Given the description of an element on the screen output the (x, y) to click on. 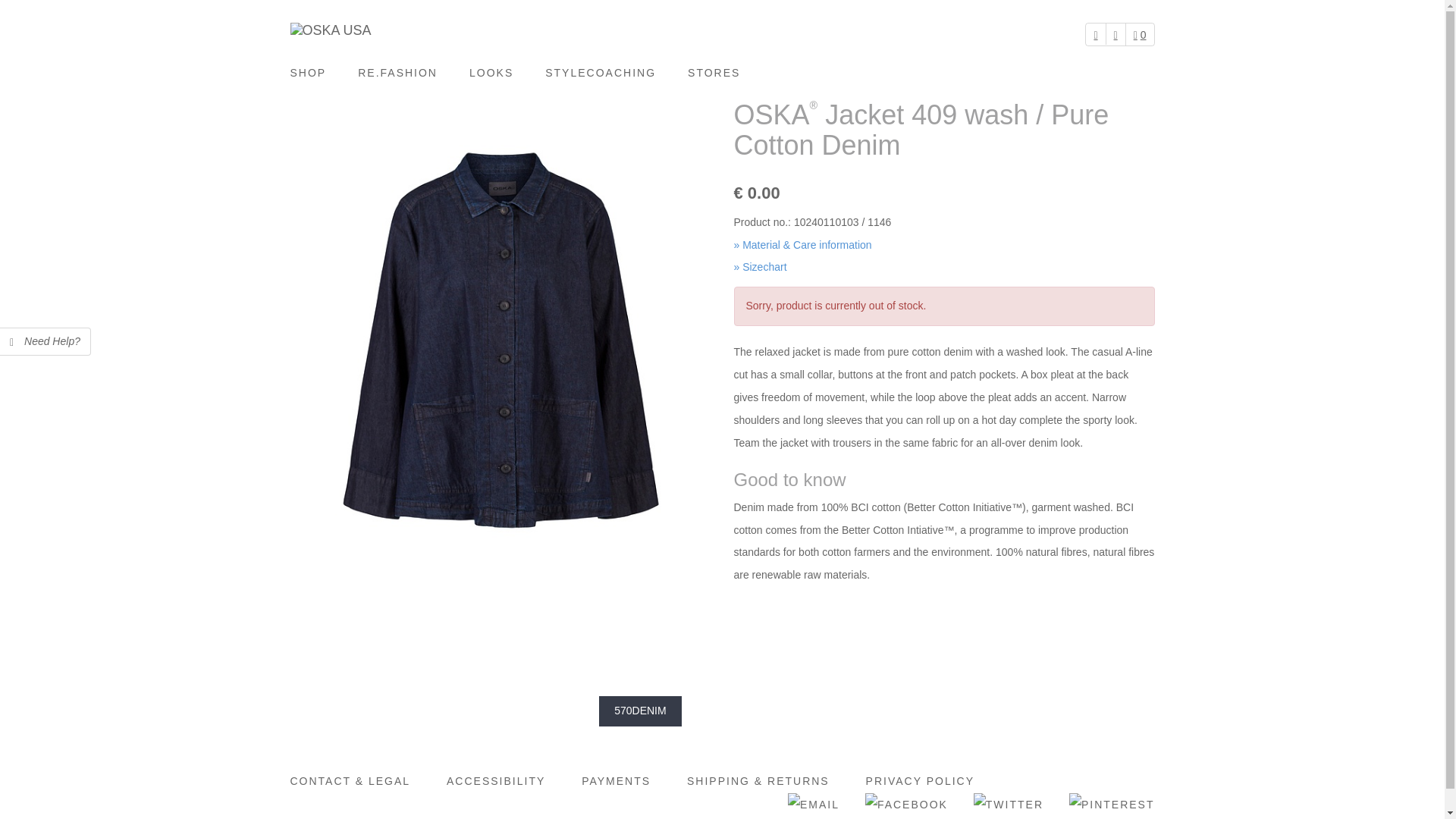
SHOP (315, 72)
LOOKS (490, 72)
STORES (713, 72)
STYLECOACHING (600, 72)
0 (1139, 34)
ACCESSIBILITY (495, 780)
OSKA USA (330, 29)
RE.FASHION (397, 72)
PRIVACY POLICY (920, 780)
PAYMENTS (616, 780)
